Given the description of an element on the screen output the (x, y) to click on. 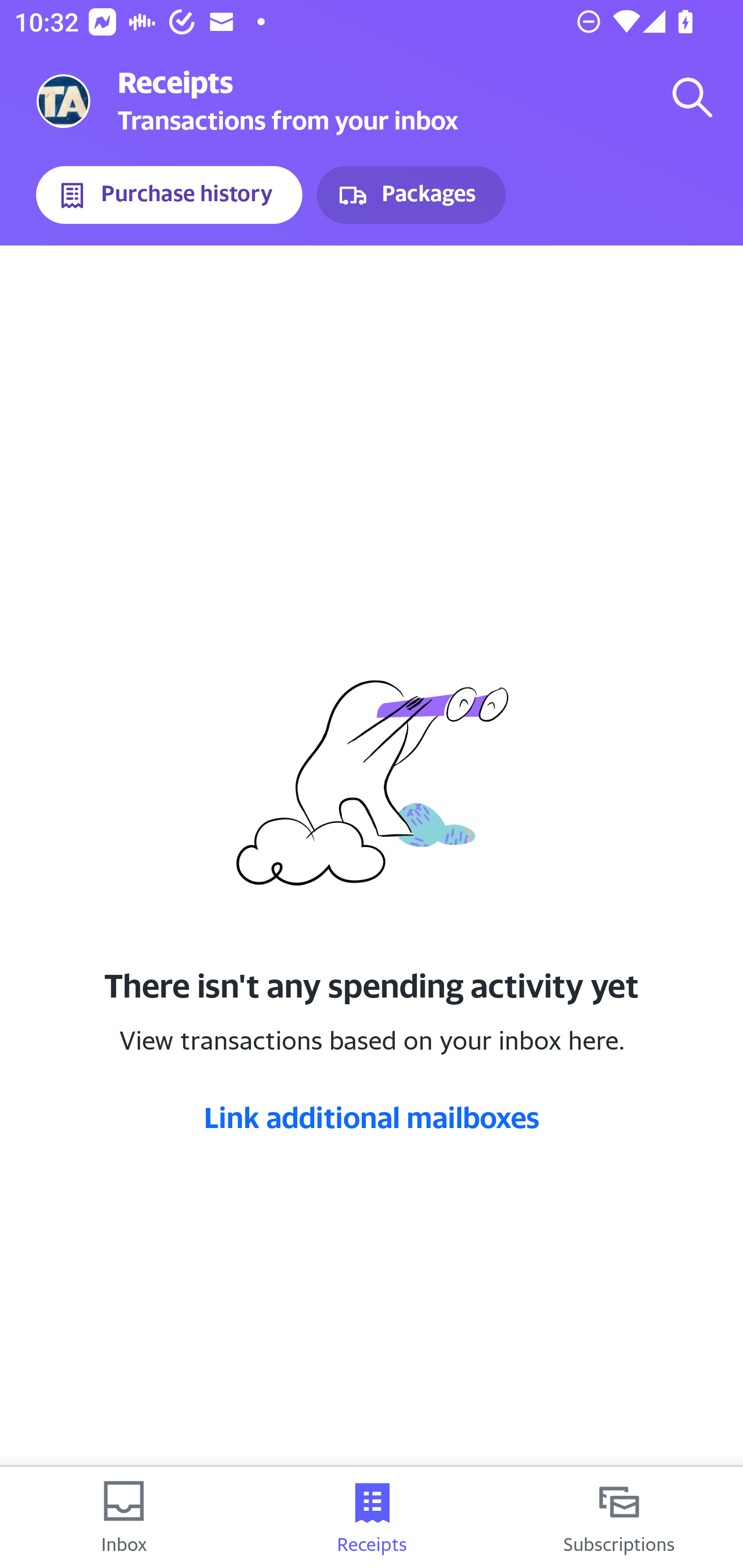
Search mail (692, 97)
Packages (410, 195)
Link additional mailboxes (371, 1117)
Inbox (123, 1517)
Receipts (371, 1517)
Subscriptions (619, 1517)
